Given the description of an element on the screen output the (x, y) to click on. 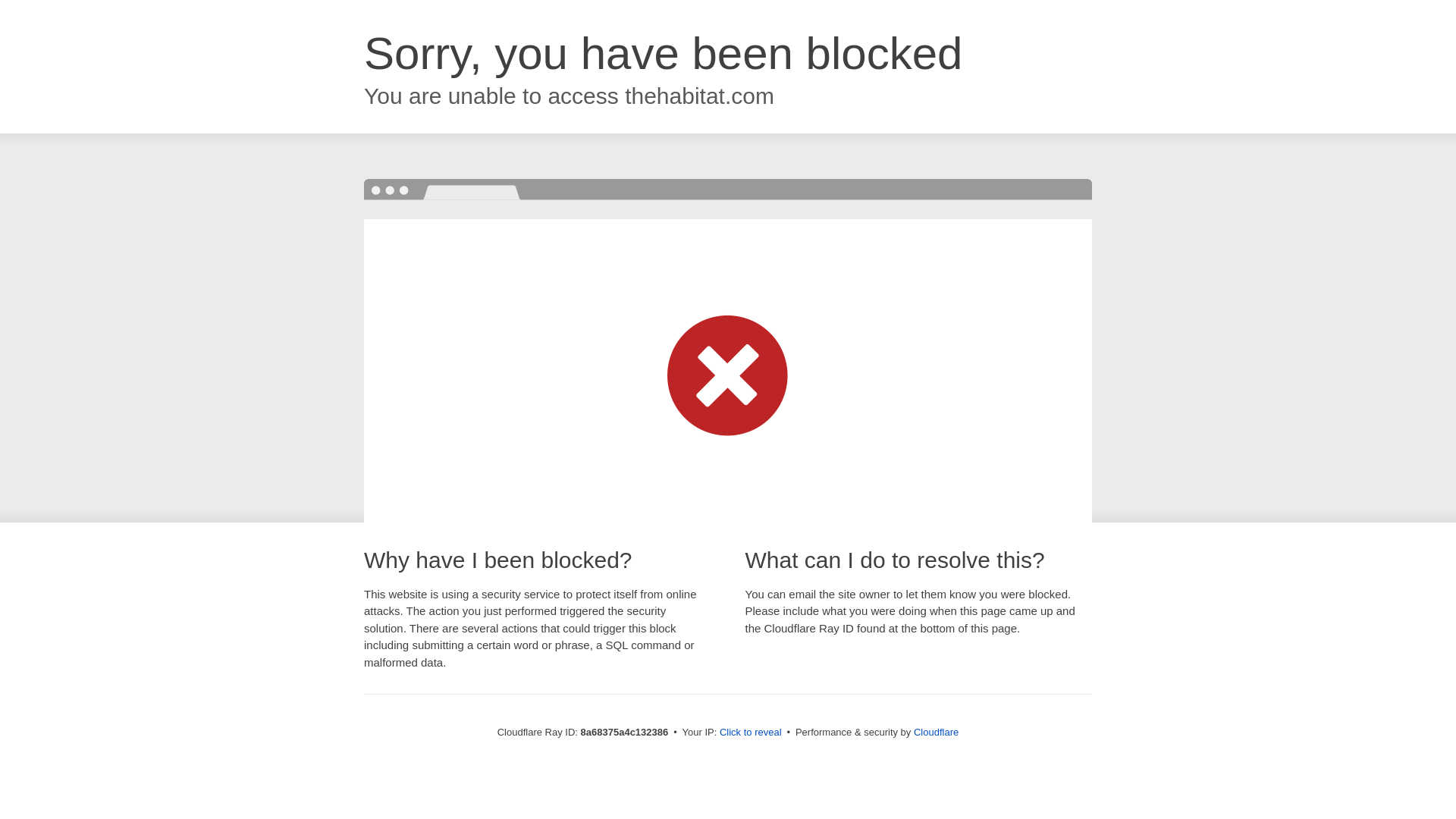
Click to reveal (750, 732)
Cloudflare (936, 731)
